Given the description of an element on the screen output the (x, y) to click on. 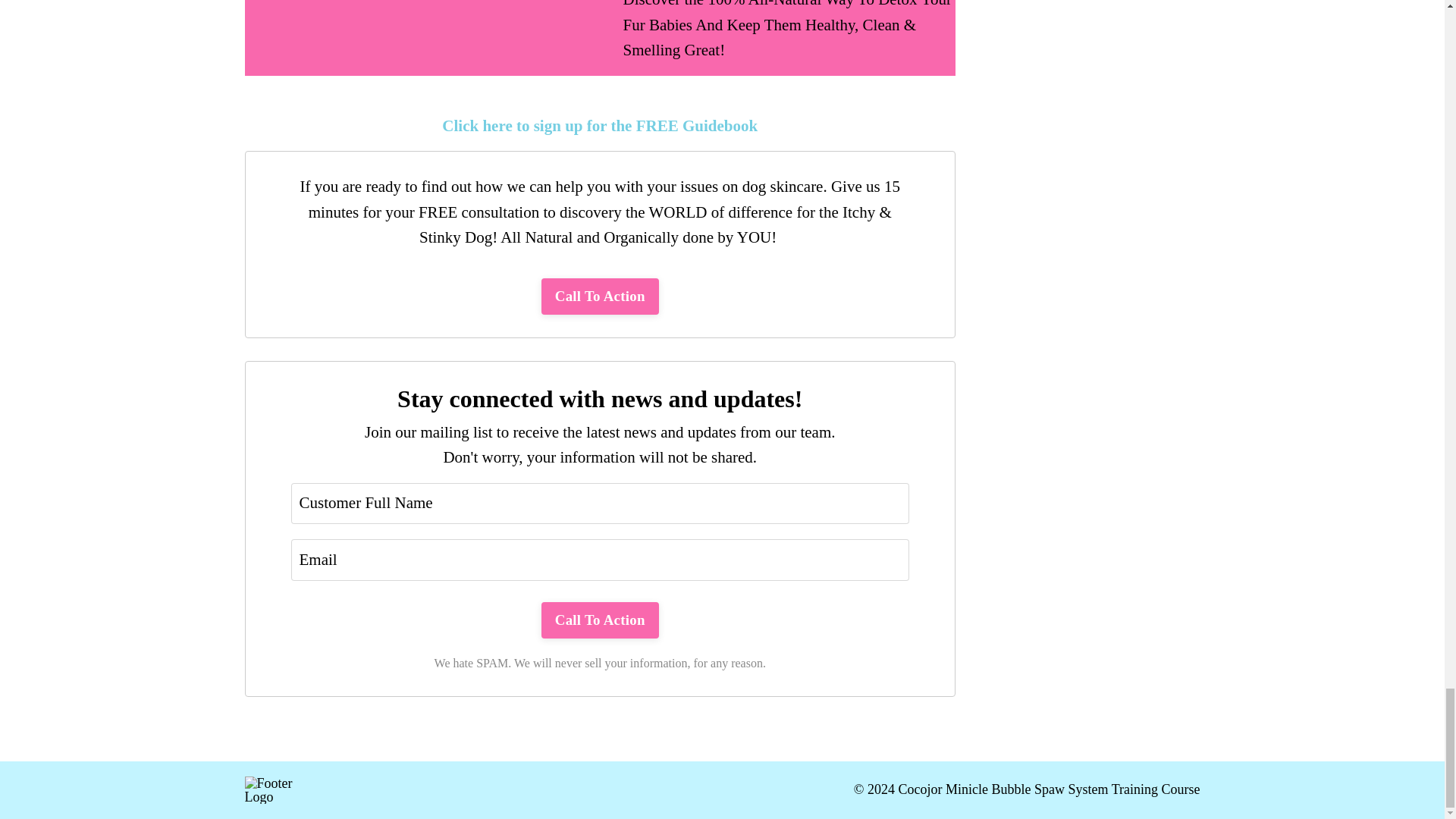
Call To Action (600, 619)
